Given the description of an element on the screen output the (x, y) to click on. 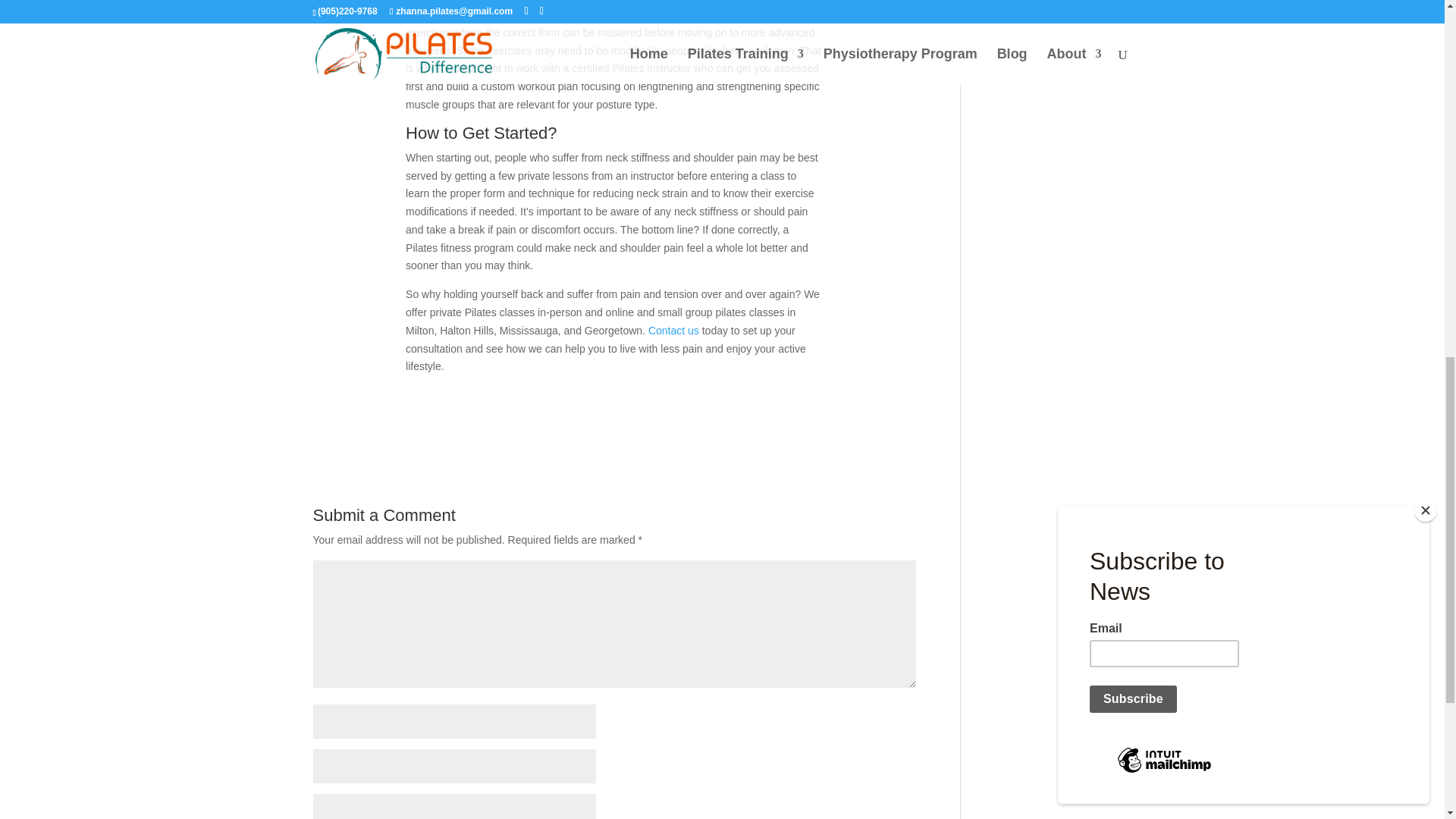
Contact us (672, 330)
